Given the description of an element on the screen output the (x, y) to click on. 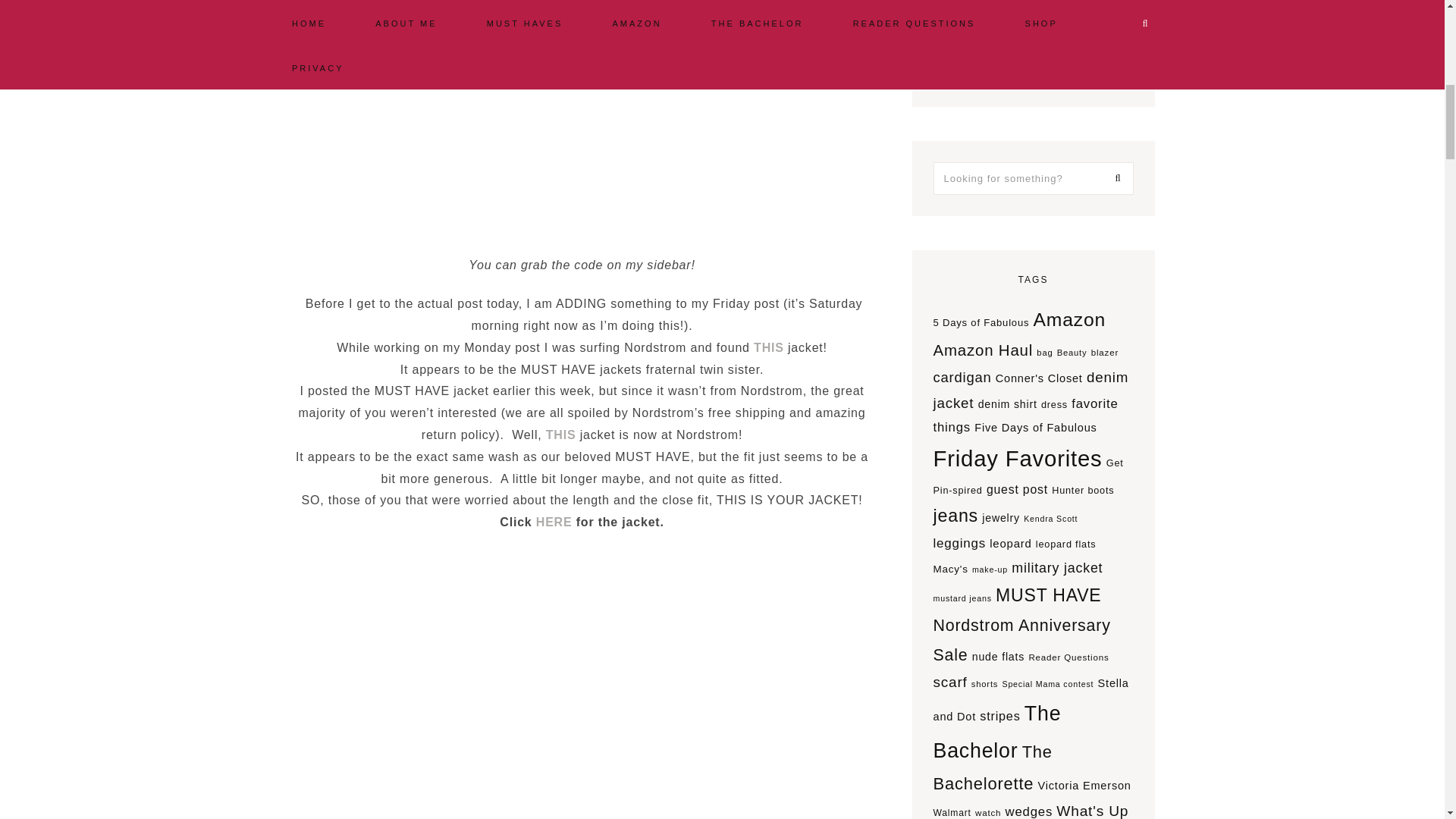
HERE (553, 521)
THIS (561, 434)
THIS (769, 347)
Submit (1032, 55)
